Given the description of an element on the screen output the (x, y) to click on. 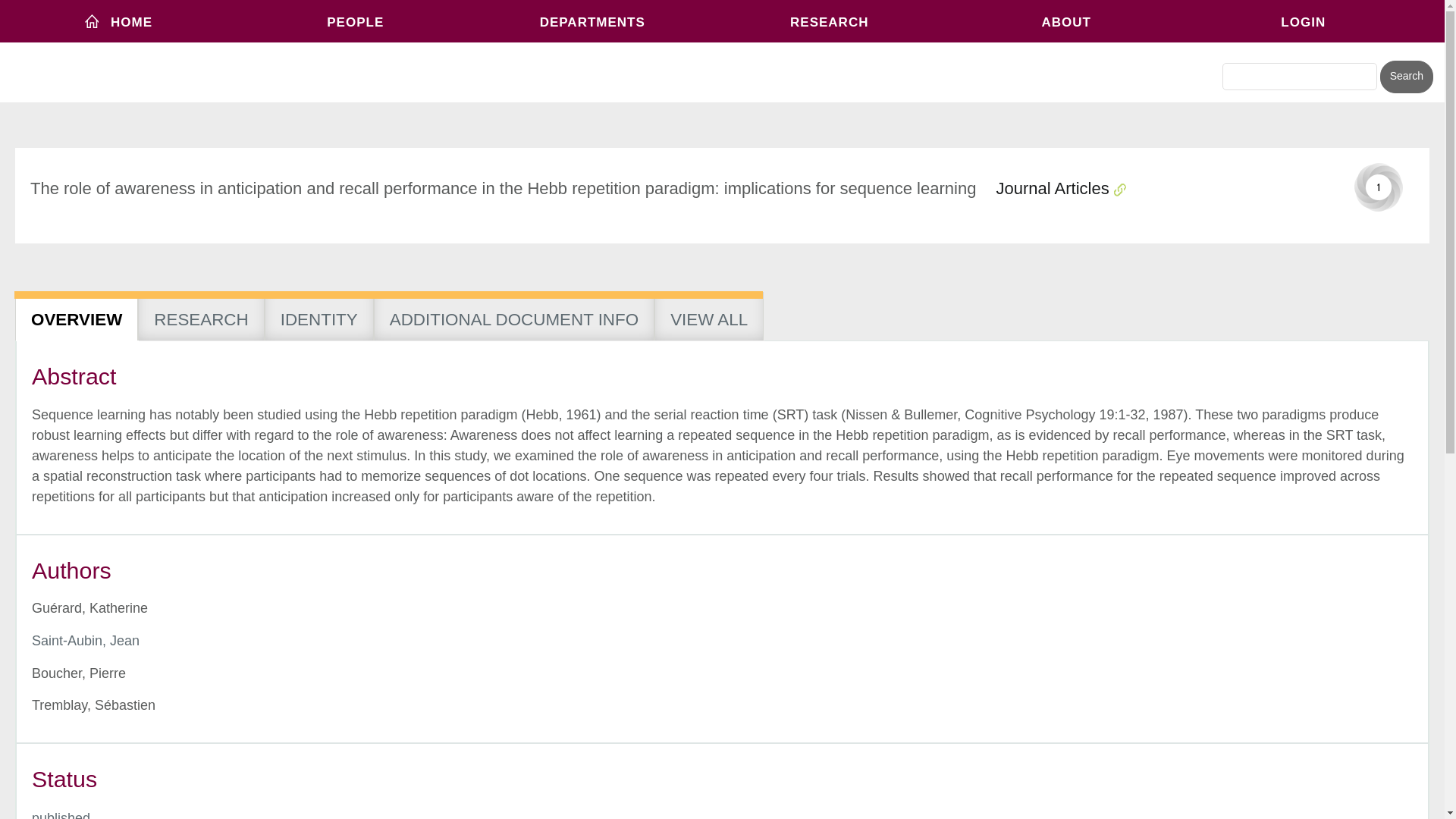
People menu item (355, 21)
About menu item (1066, 21)
Saint-Aubin, Jean (85, 640)
RESEARCH (829, 21)
Search (1406, 76)
name (61, 814)
Home menu item (118, 21)
HOME (118, 21)
author name (85, 640)
LOGIN (1303, 21)
